Given the description of an element on the screen output the (x, y) to click on. 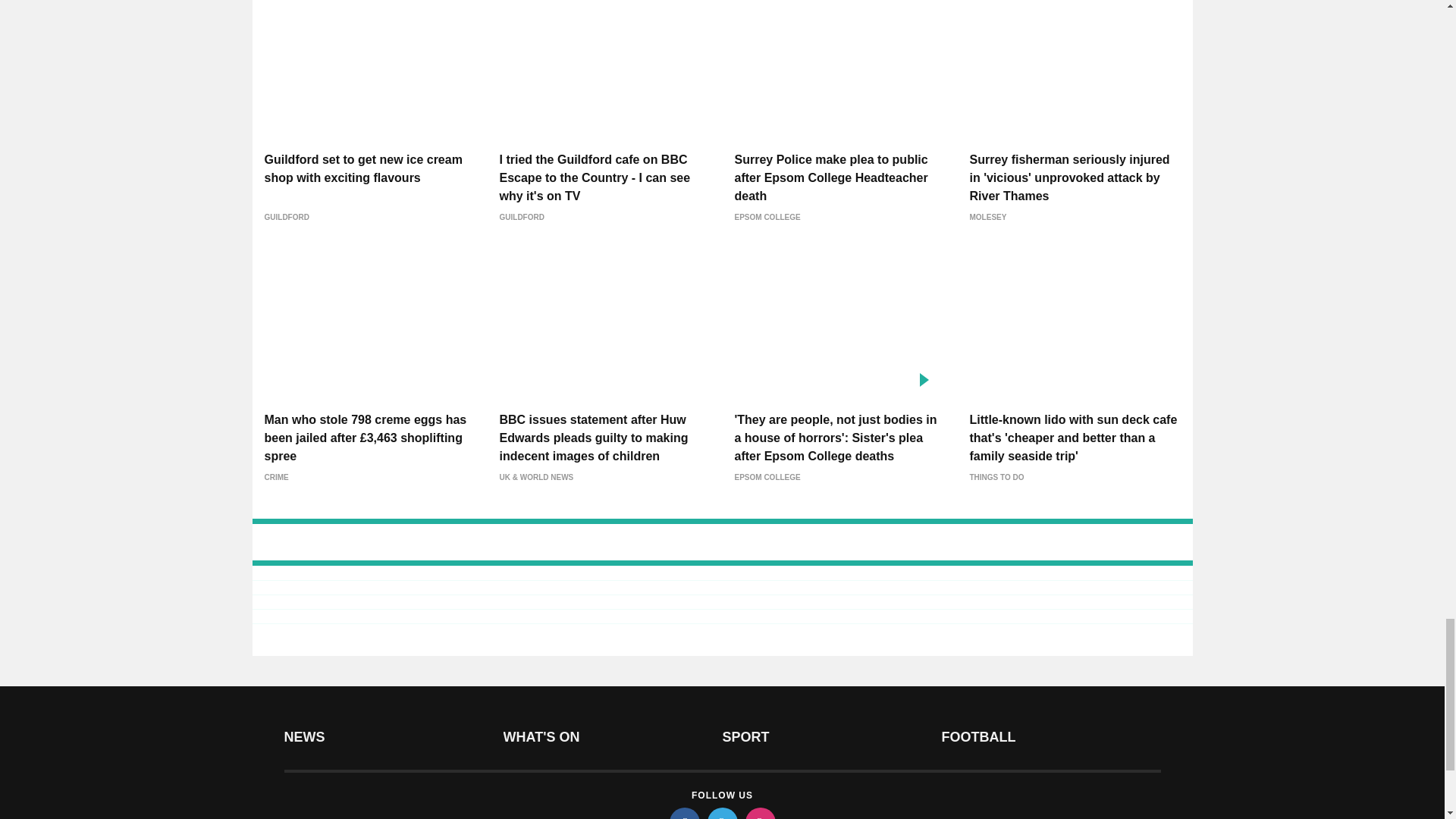
instagram (759, 813)
facebook (683, 813)
twitter (721, 813)
